Given the description of an element on the screen output the (x, y) to click on. 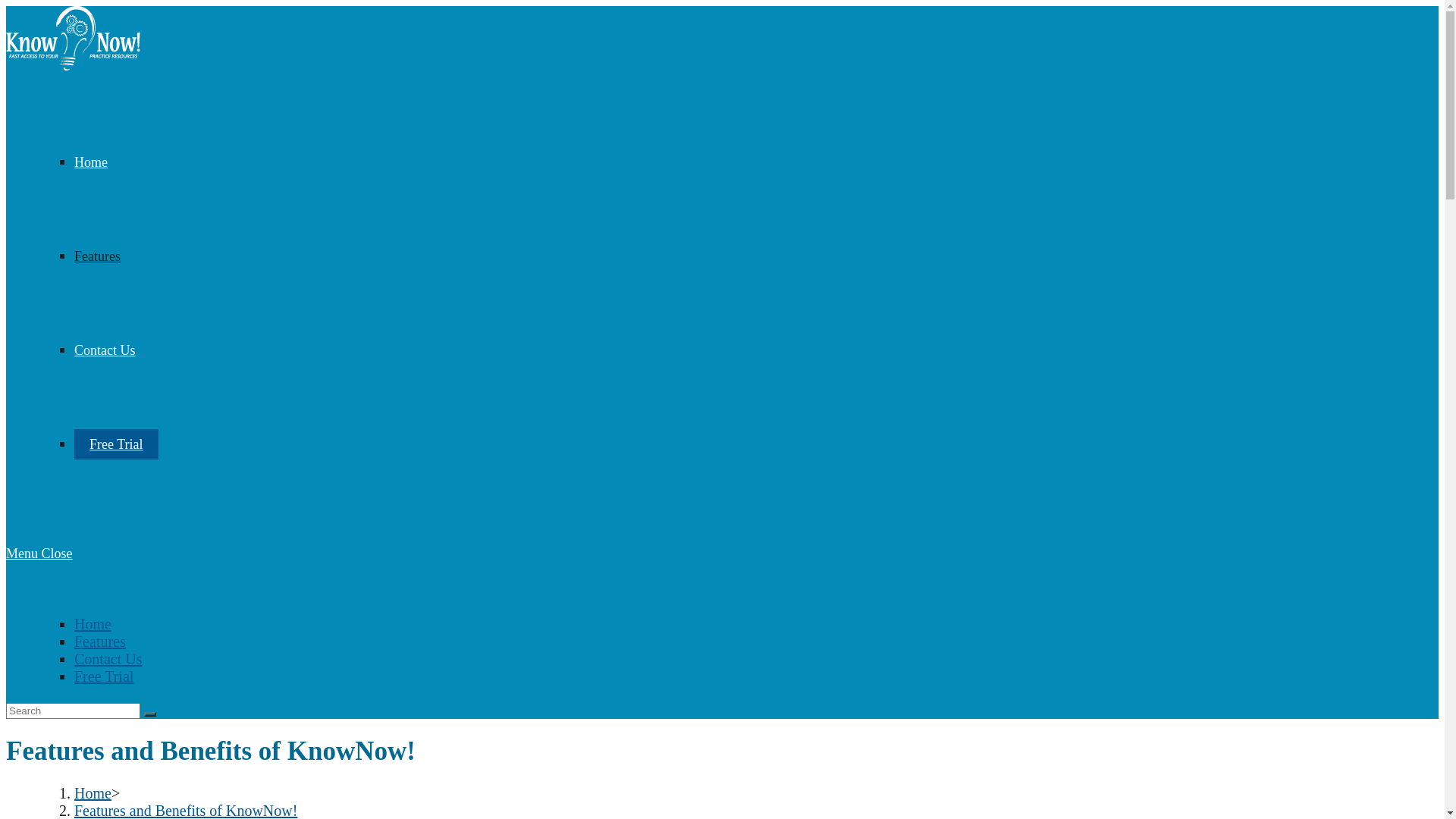
Free Trial Element type: text (103, 676)
Free Trial Element type: text (116, 444)
Menu Close Element type: text (39, 553)
Contact Us Element type: text (104, 349)
Home Element type: text (90, 161)
Features Element type: text (99, 641)
Home Element type: text (92, 623)
Contact Us Element type: text (107, 658)
Home Element type: text (92, 792)
Features Element type: text (97, 255)
